Given the description of an element on the screen output the (x, y) to click on. 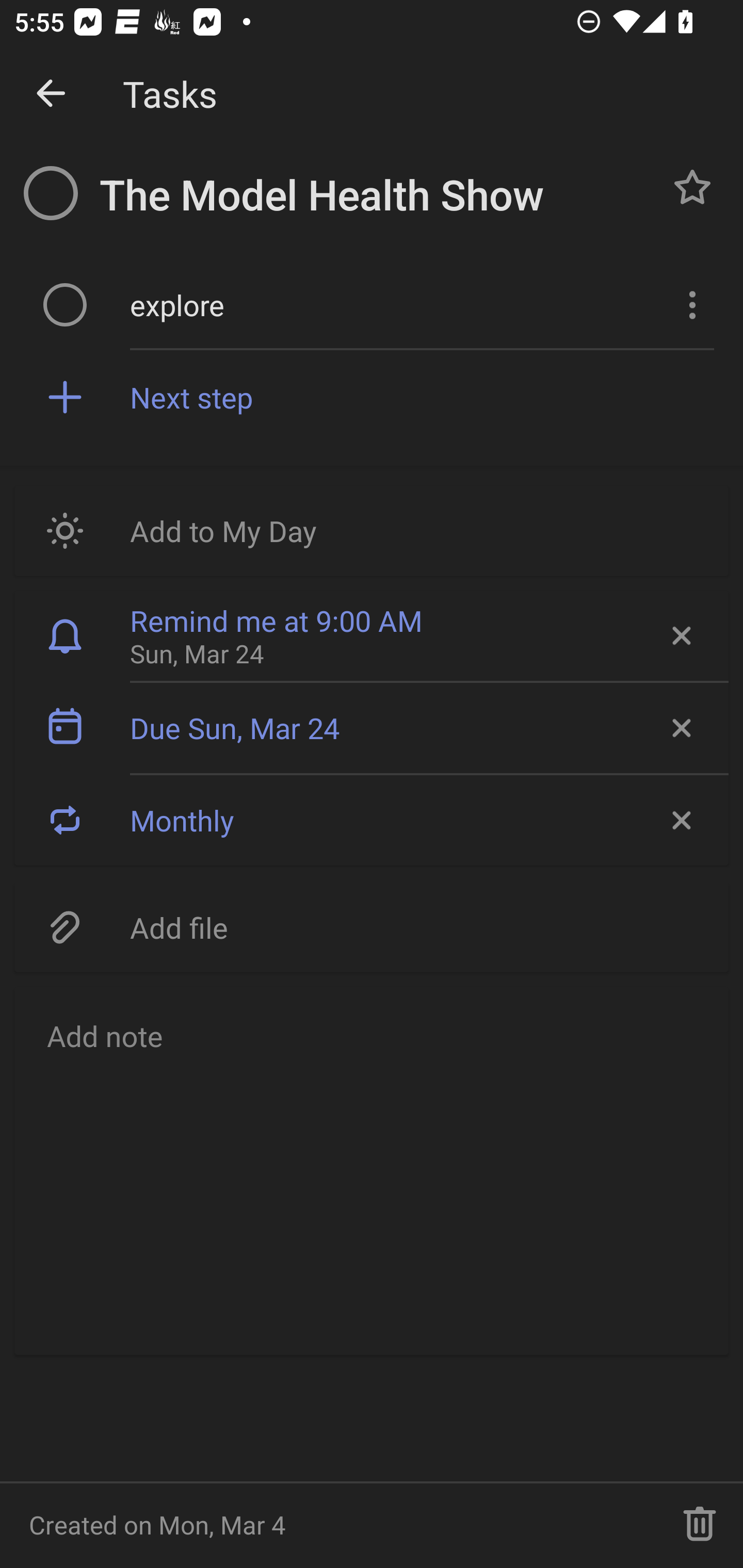
Dismiss detail view (50, 93)
Incomplete task The Model Health Show, Button (50, 192)
The Model Health Show (374, 195)
Normal task The Model Health Show, Button (692, 187)
explore (393, 304)
More Options (690, 304)
Uncompleted, explore, step, Button (64, 304)
Next step (422, 396)
Add to My Day (371, 530)
Remind me at 9:00 AM Sun, Mar 24 Remove reminder (371, 635)
Remove reminder (679, 635)
Due Sun, Mar 24 Due Sun, Mar 24 Remove due date (371, 728)
Remove due date (679, 728)
Remove recurrence (679, 819)
Add file (371, 926)
Add note, Button Email Renderer Add note (371, 1170)
Delete task (699, 1524)
